Given the description of an element on the screen output the (x, y) to click on. 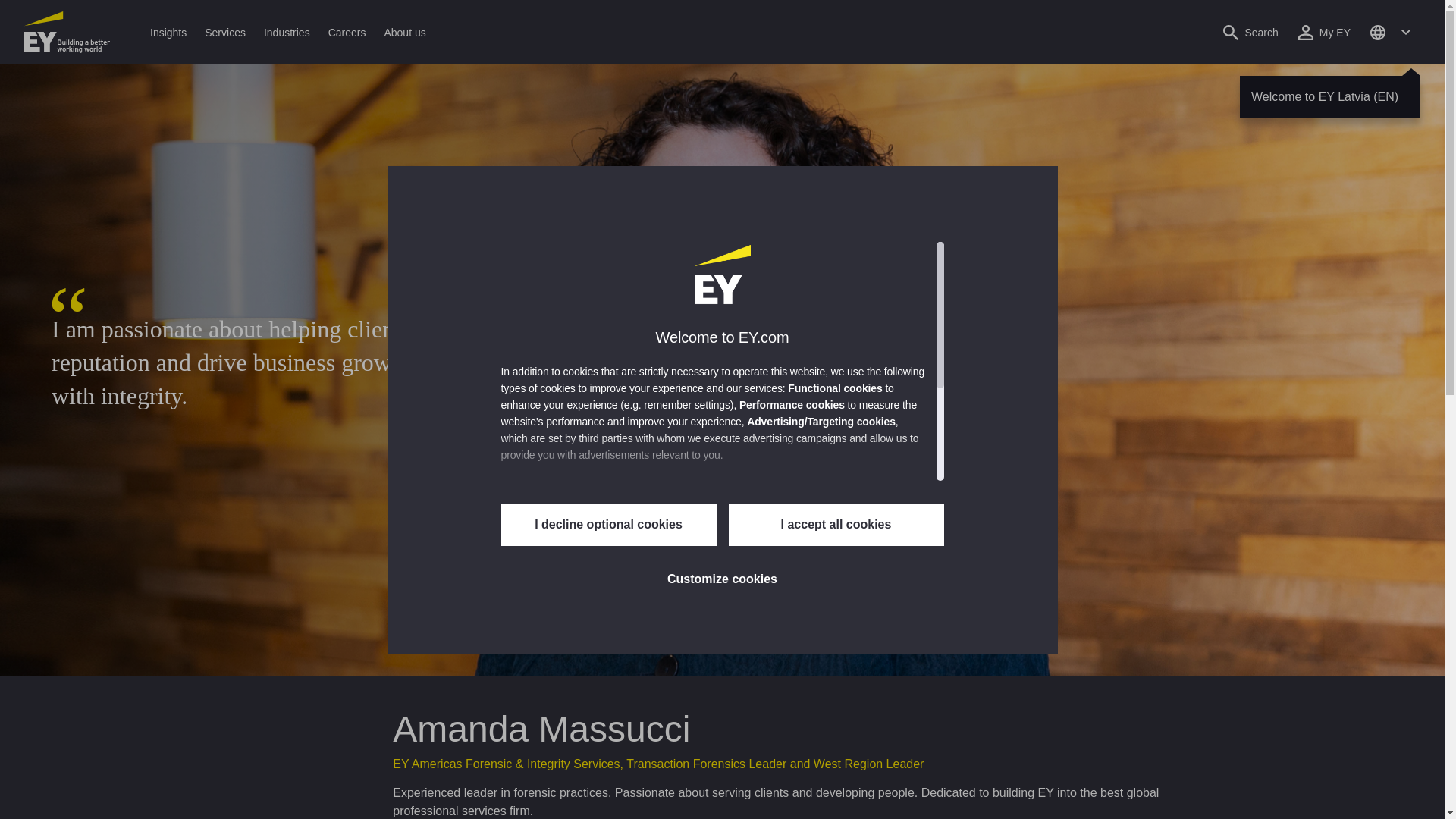
Open search (1250, 32)
EY Homepage (67, 32)
My EY (1324, 32)
